Given the description of an element on the screen output the (x, y) to click on. 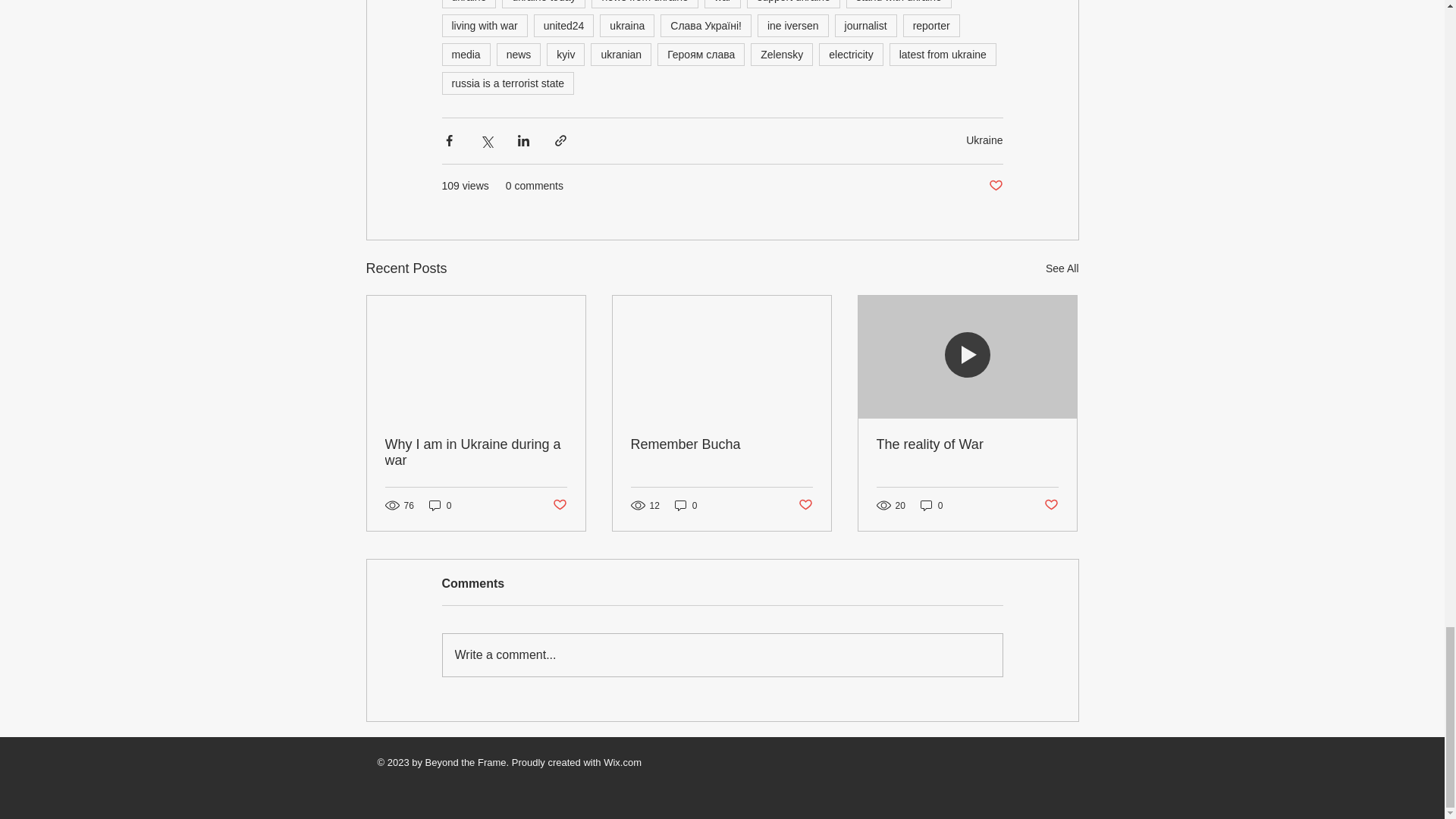
news (518, 54)
war (722, 4)
journalist (865, 25)
electricity (850, 54)
support ukraine (793, 4)
latest from ukraine (942, 54)
reporter (930, 25)
stand with ukraine (898, 4)
russia is a terrorist state (507, 83)
Ukraine (984, 140)
ukraine (468, 4)
media (465, 54)
ine iversen (792, 25)
united24 (564, 25)
ukranian (620, 54)
